Given the description of an element on the screen output the (x, y) to click on. 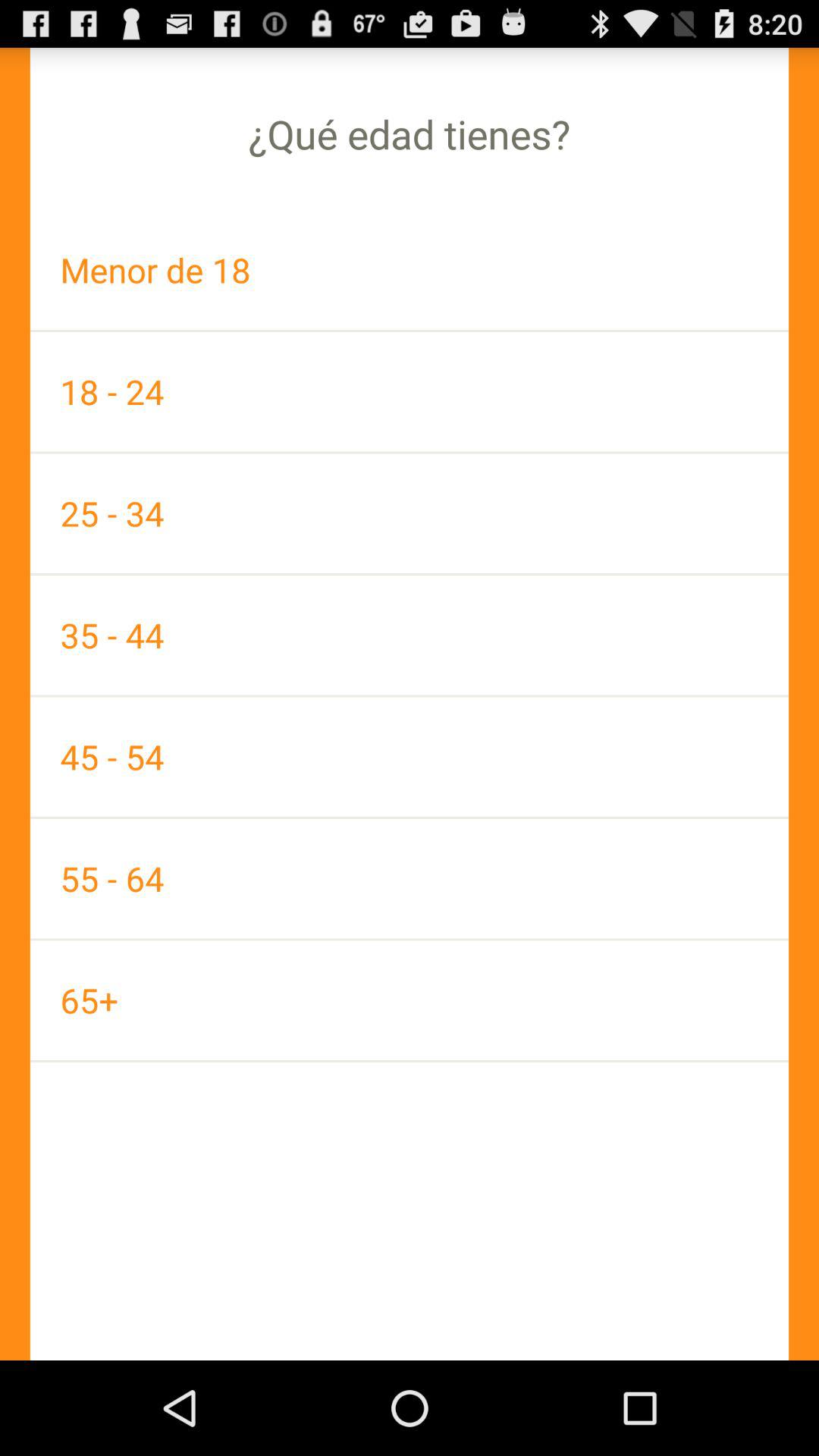
turn on the 55 - 64 app (409, 878)
